Given the description of an element on the screen output the (x, y) to click on. 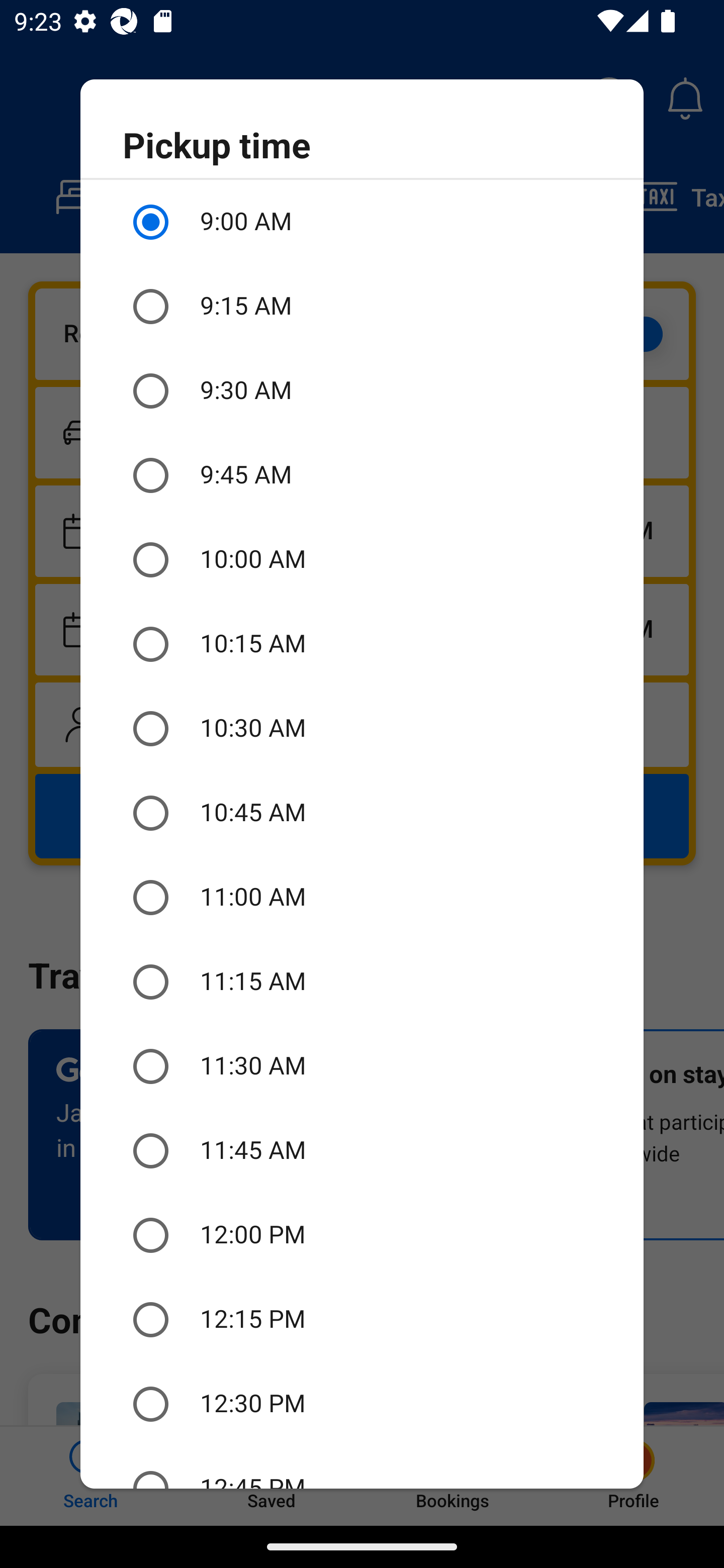
9:00 AM (361, 222)
9:15 AM (361, 306)
9:30 AM (361, 390)
9:45 AM (361, 474)
10:00 AM (361, 559)
10:15 AM (361, 644)
10:30 AM (361, 728)
10:45 AM (361, 813)
11:00 AM (361, 897)
11:15 AM (361, 981)
11:30 AM (361, 1065)
11:45 AM (361, 1150)
12:00 PM (361, 1235)
12:15 PM (361, 1319)
12:30 PM (361, 1403)
